Given the description of an element on the screen output the (x, y) to click on. 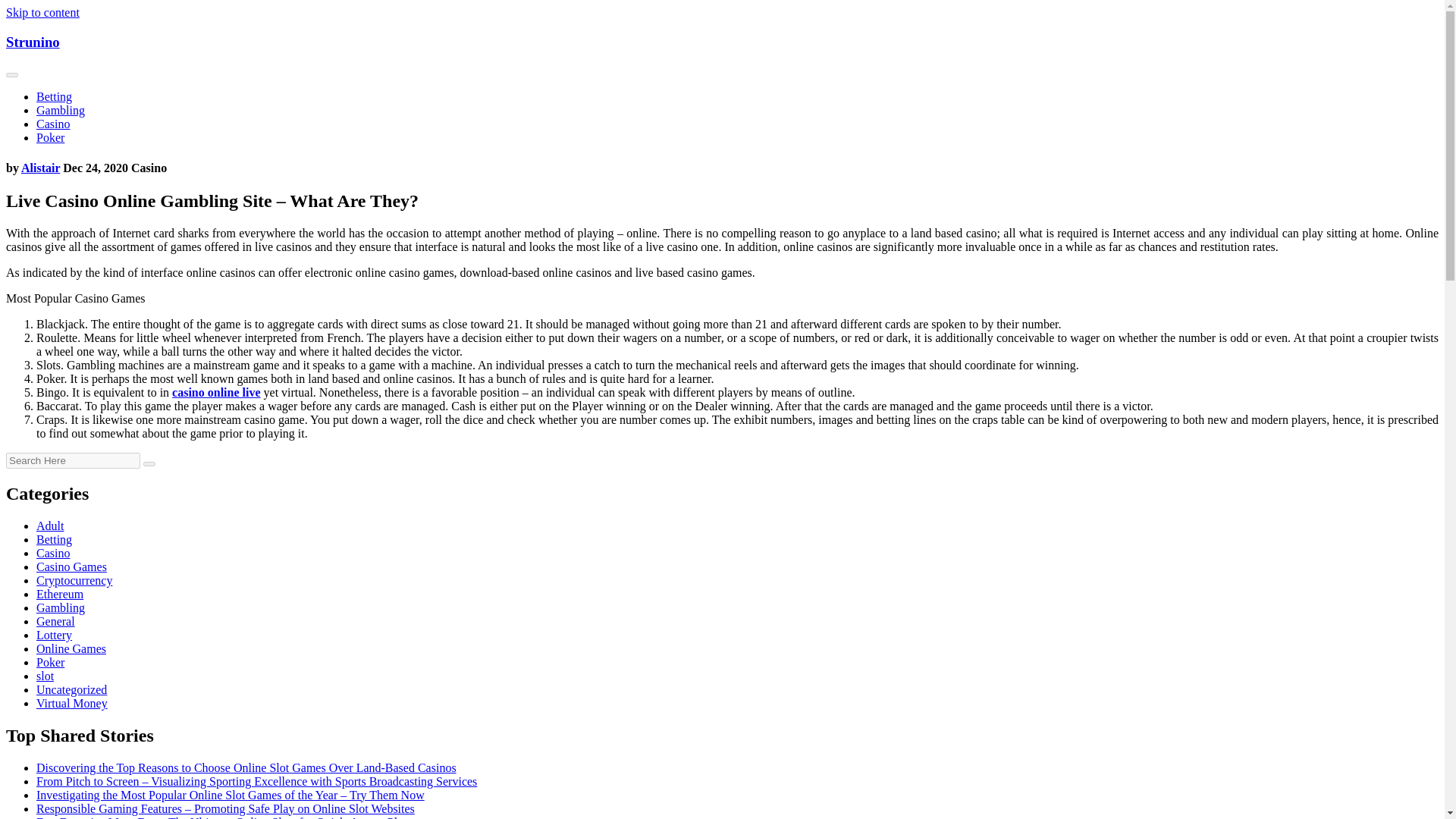
Betting (53, 96)
Virtual Money (71, 703)
Casino (52, 553)
Skip to content (42, 11)
Adult (50, 525)
Uncategorized (71, 689)
Online Games (71, 648)
General (55, 621)
Ethereum (59, 594)
Casino (52, 123)
Casino Games (71, 566)
slot (44, 675)
Poker (50, 137)
Gambling (60, 110)
